Given the description of an element on the screen output the (x, y) to click on. 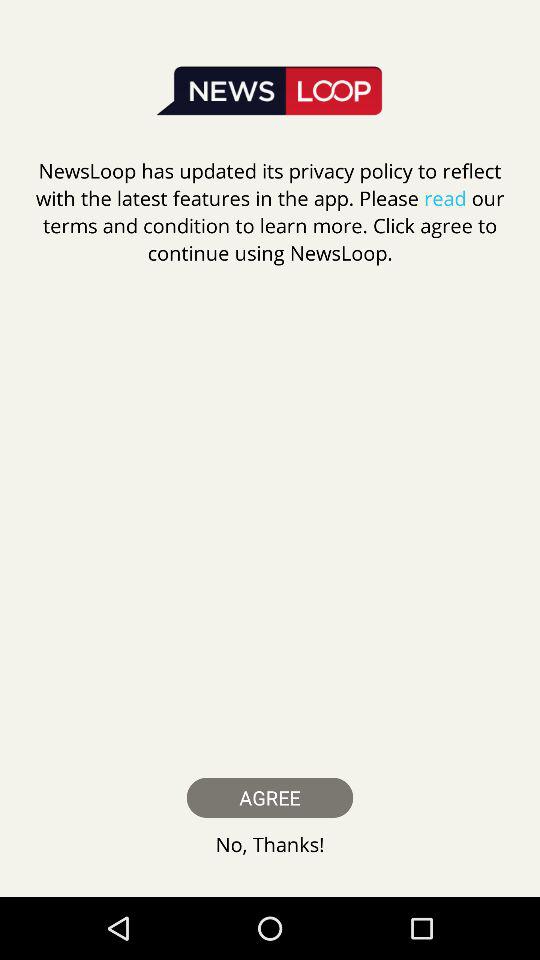
turn off newsloop has updated icon (269, 211)
